Given the description of an element on the screen output the (x, y) to click on. 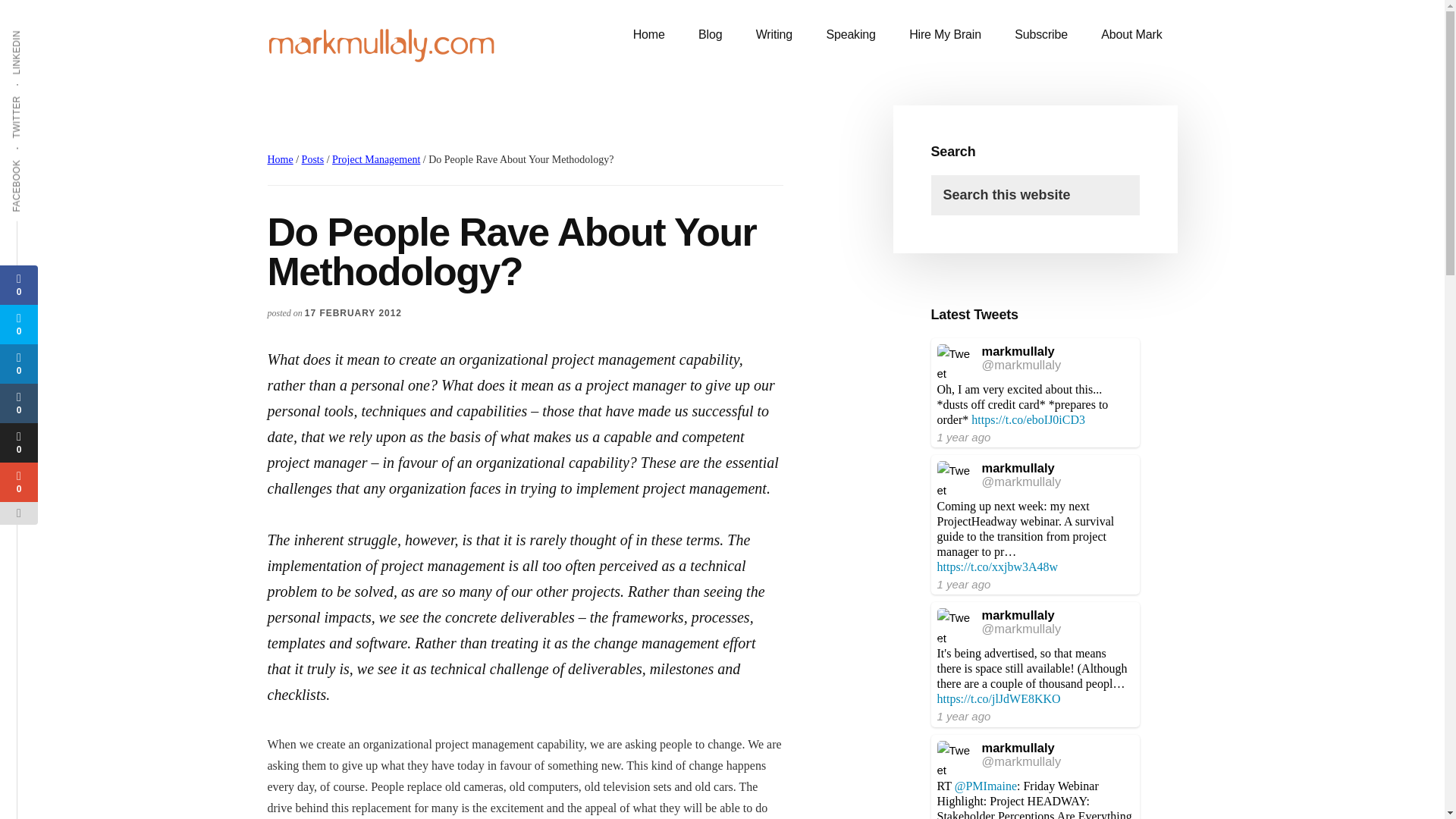
FACEBOOK (44, 158)
LINKEDIN (39, 28)
TWITTER (38, 94)
Blog (709, 34)
Home (648, 34)
Speaking (849, 34)
Writing (774, 34)
